Given the description of an element on the screen output the (x, y) to click on. 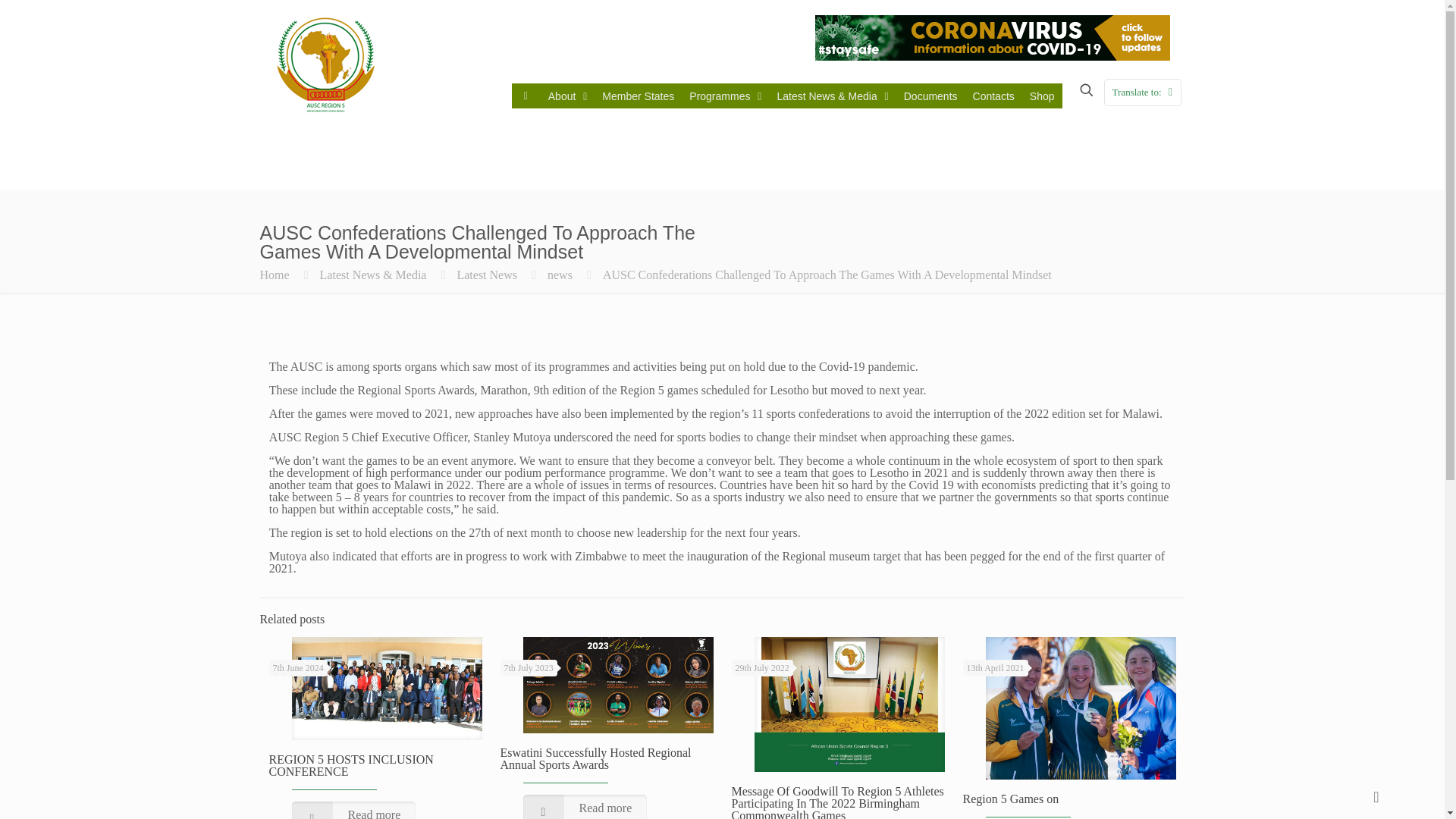
About (567, 96)
Contacts (993, 96)
Home (273, 274)
Member States (637, 96)
Shop (1042, 96)
Translate to: (1141, 92)
Documents (930, 96)
AUSC Region 5 (324, 63)
Programmes (724, 96)
